Given the description of an element on the screen output the (x, y) to click on. 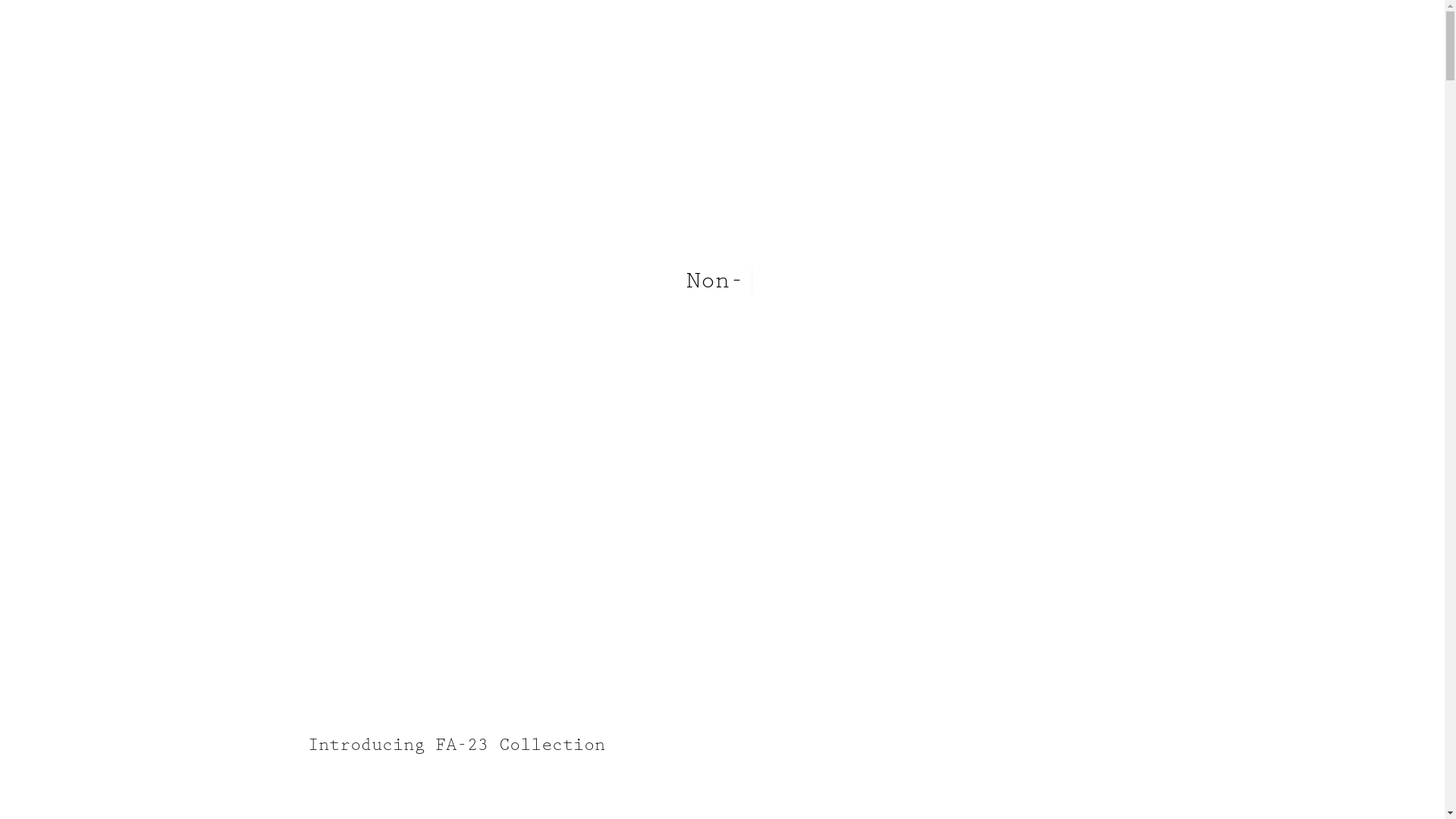
Shop Fall 2023 Collection Element type: text (722, 231)
